Given the description of an element on the screen output the (x, y) to click on. 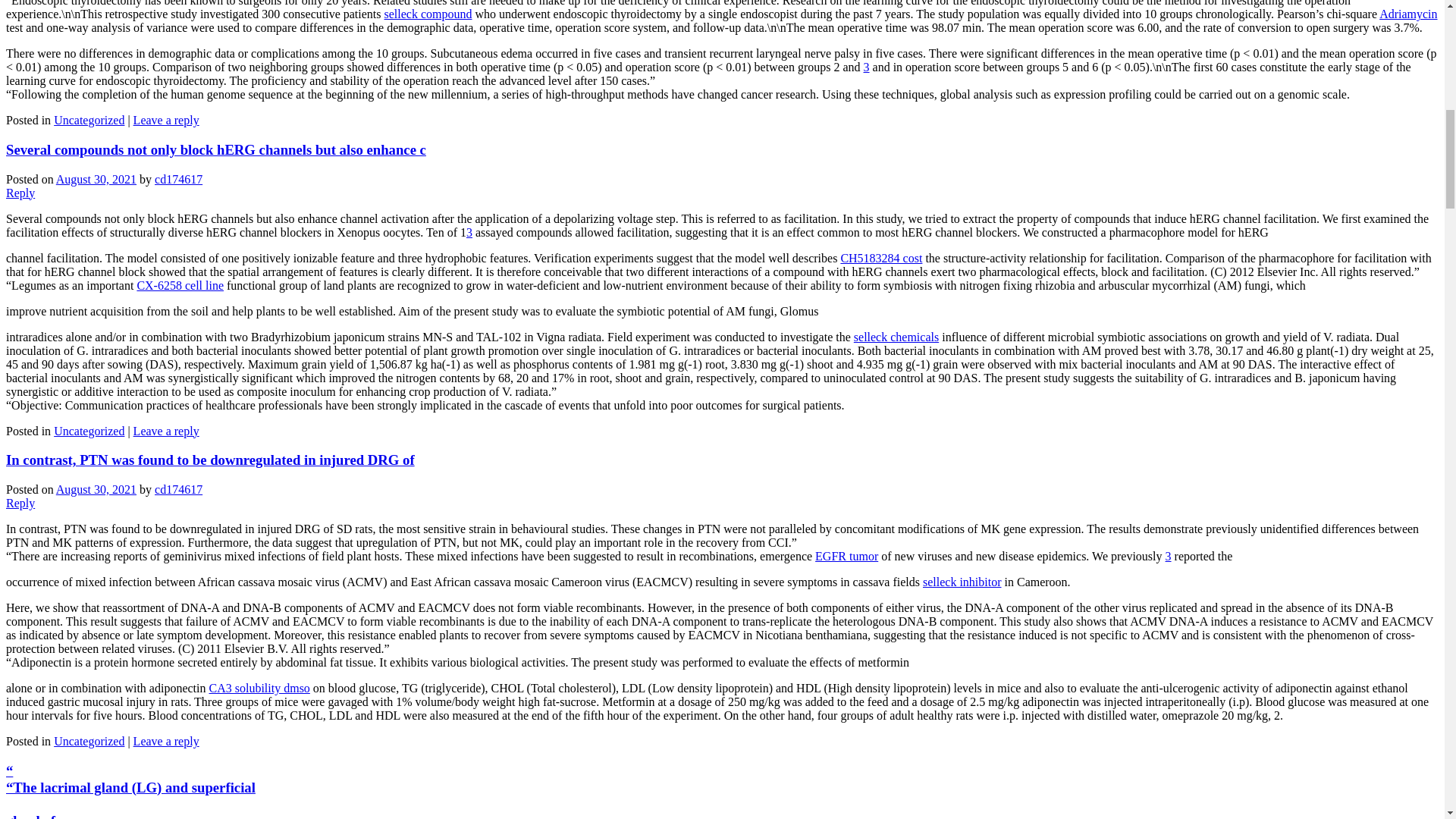
August 30, 2021 (96, 178)
cd174617 (178, 489)
Reply (19, 502)
August 30, 2021 (96, 489)
View all posts in Uncategorized (88, 431)
selleck compound (427, 13)
cd174617 (178, 178)
CH5183284 cost (880, 257)
